Given the description of an element on the screen output the (x, y) to click on. 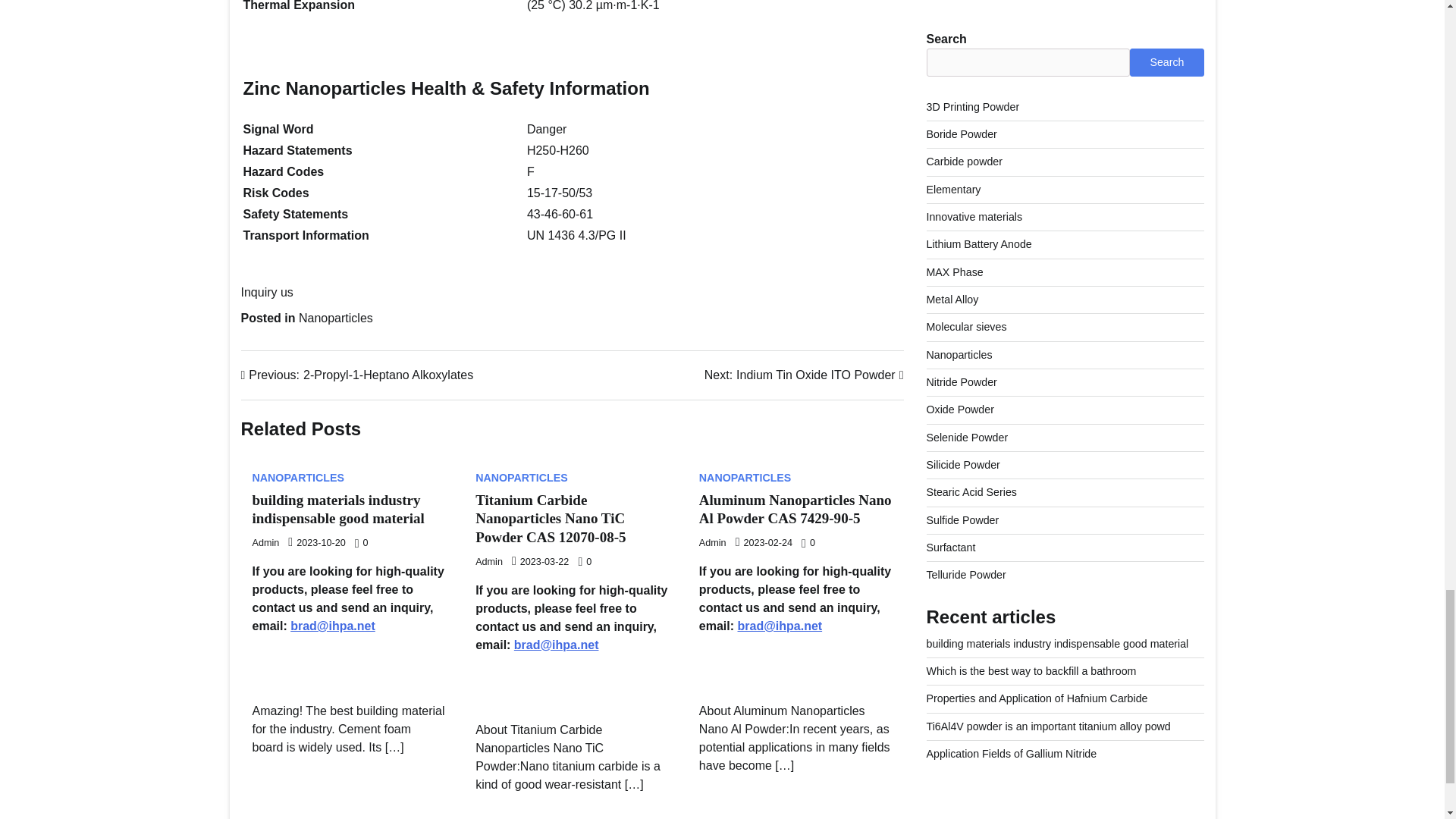
NANOPARTICLES (297, 477)
Nanoparticles (335, 318)
building materials industry indispensable good material (337, 509)
Admin (265, 542)
NANOPARTICLES (804, 375)
